Given the description of an element on the screen output the (x, y) to click on. 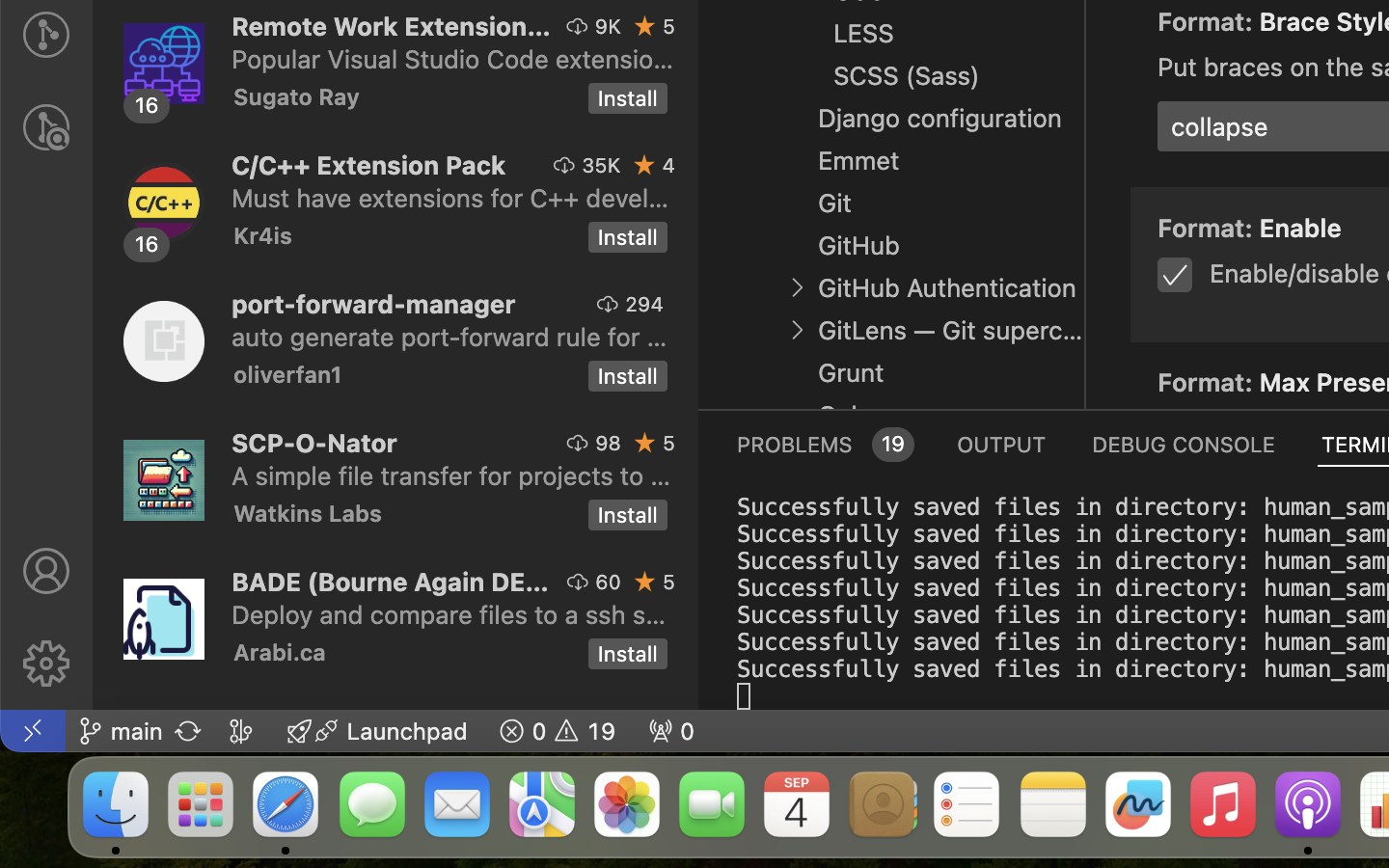
9K Element type: AXStaticText (607, 25)
 Element type: AXStaticText (1108, 16)
Watkins Labs Element type: AXStaticText (307, 512)
Launchpad   Element type: AXButton (376, 730)
0 OUTPUT Element type: AXRadioButton (1001, 443)
